Given the description of an element on the screen output the (x, y) to click on. 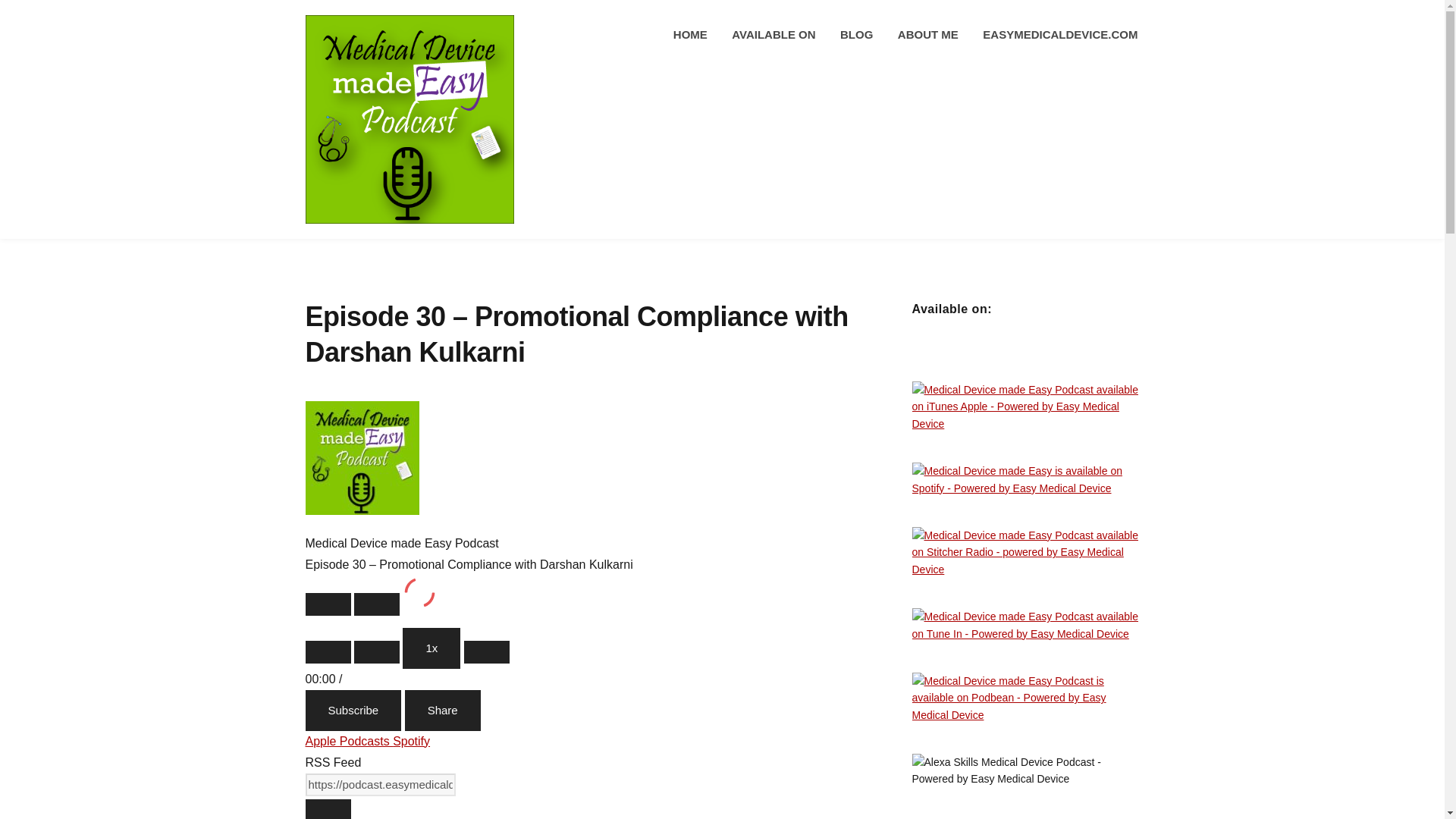
Medical Device made Easy Podcast (361, 458)
HOME (690, 34)
Share (442, 710)
AVAILABLE ON (773, 34)
Subscribe on  Apple Podcasts (348, 740)
Rewind 10 seconds (375, 651)
Play (327, 603)
BLOG (856, 34)
Subscribe (352, 710)
Fast Forward 30 seconds (486, 651)
